Given the description of an element on the screen output the (x, y) to click on. 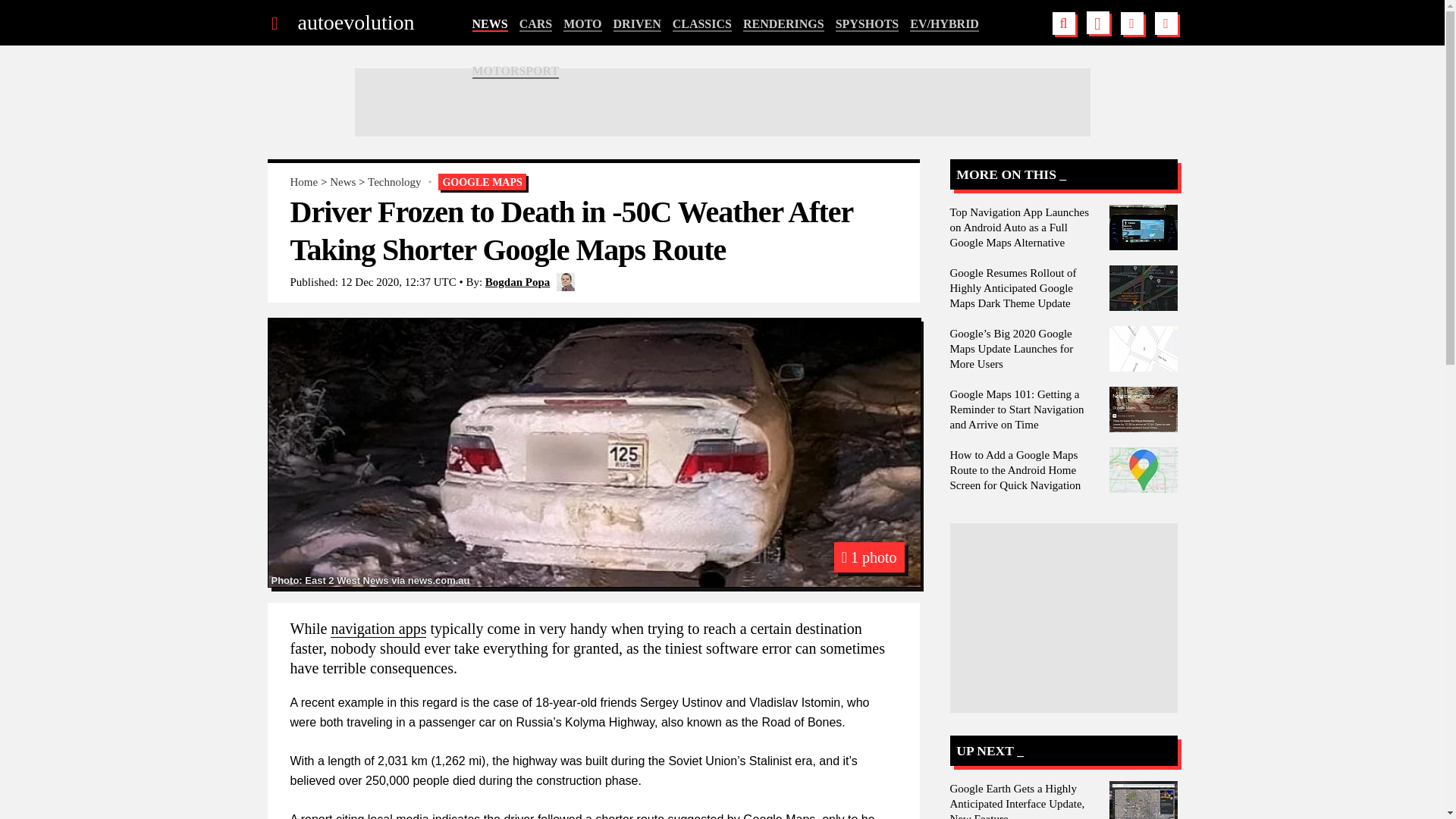
RENDERINGS (783, 24)
MOTORSPORT (515, 71)
Technology (395, 182)
NEWS (488, 24)
CARS (536, 24)
MOTO (582, 24)
SPYSHOTS (867, 24)
autoevolution (355, 22)
autoevolution (355, 22)
News (342, 182)
CLASSICS (702, 24)
DRIVEN (636, 24)
Home (303, 182)
